Given the description of an element on the screen output the (x, y) to click on. 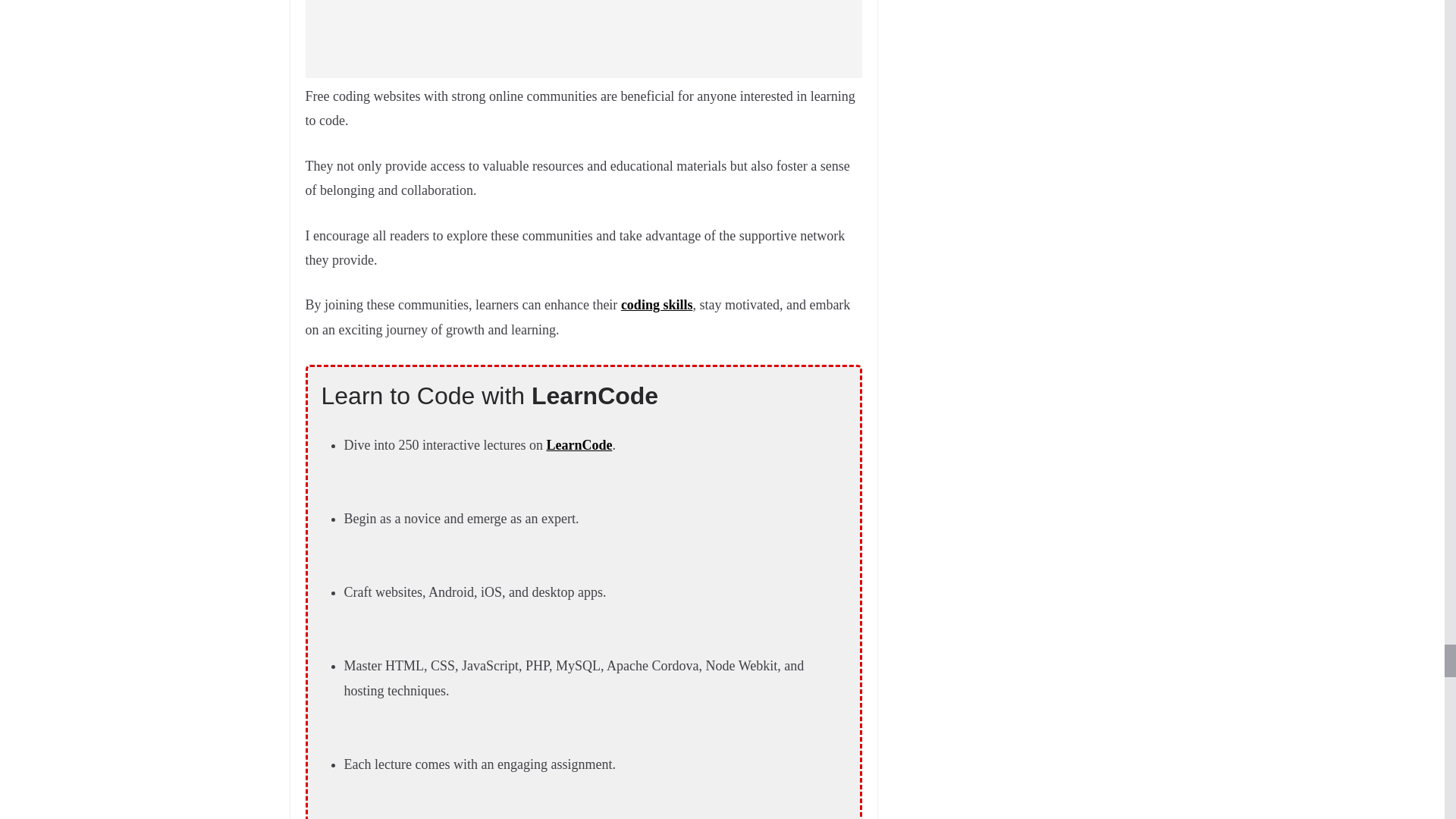
coding skills (657, 304)
LearnCode (578, 444)
